Given the description of an element on the screen output the (x, y) to click on. 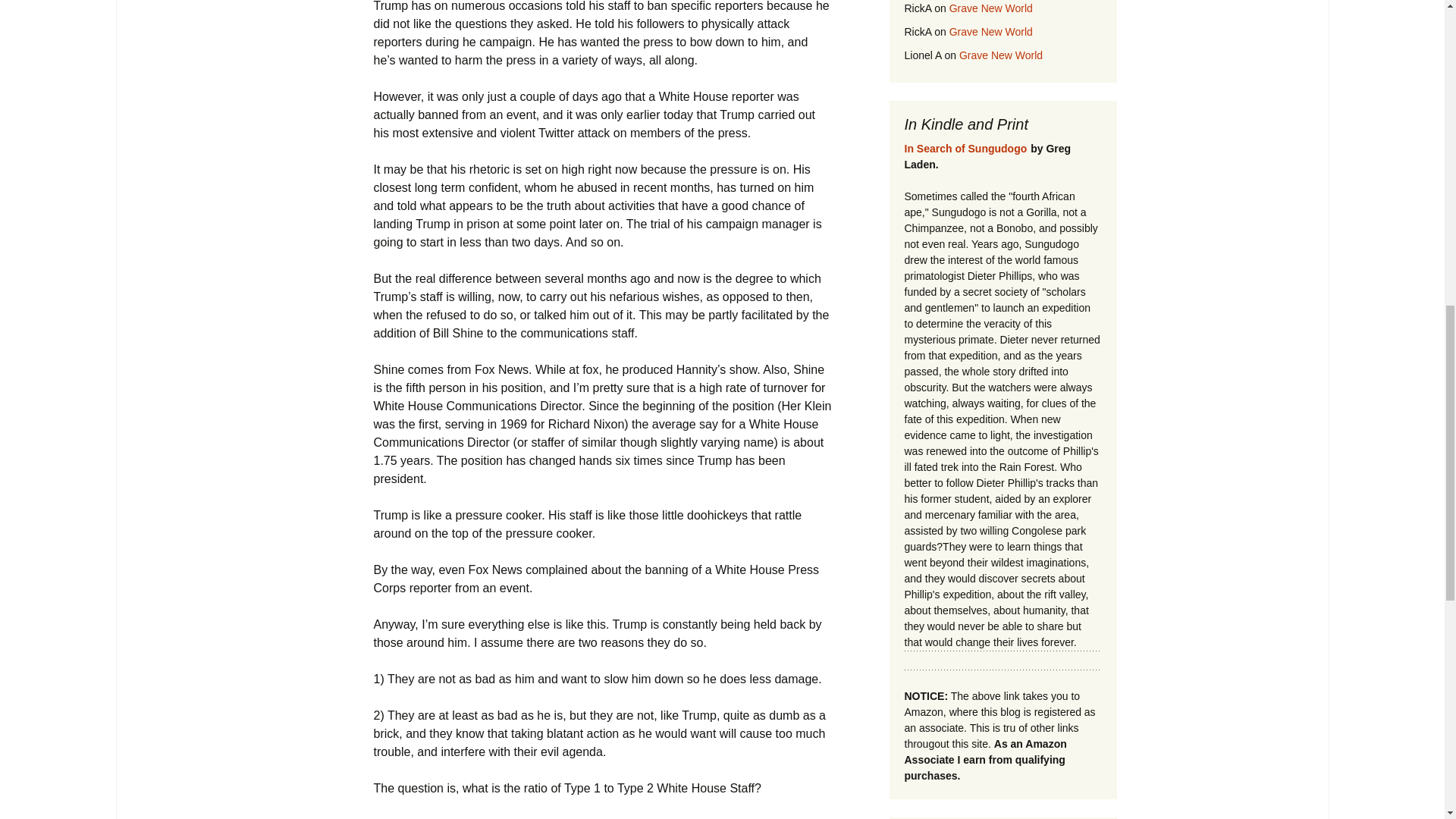
In Search of Sungudogo (965, 148)
Grave New World (990, 31)
View all 8 comments (427, 818)
Grave New World (990, 8)
Grave New World (1000, 55)
